Given the description of an element on the screen output the (x, y) to click on. 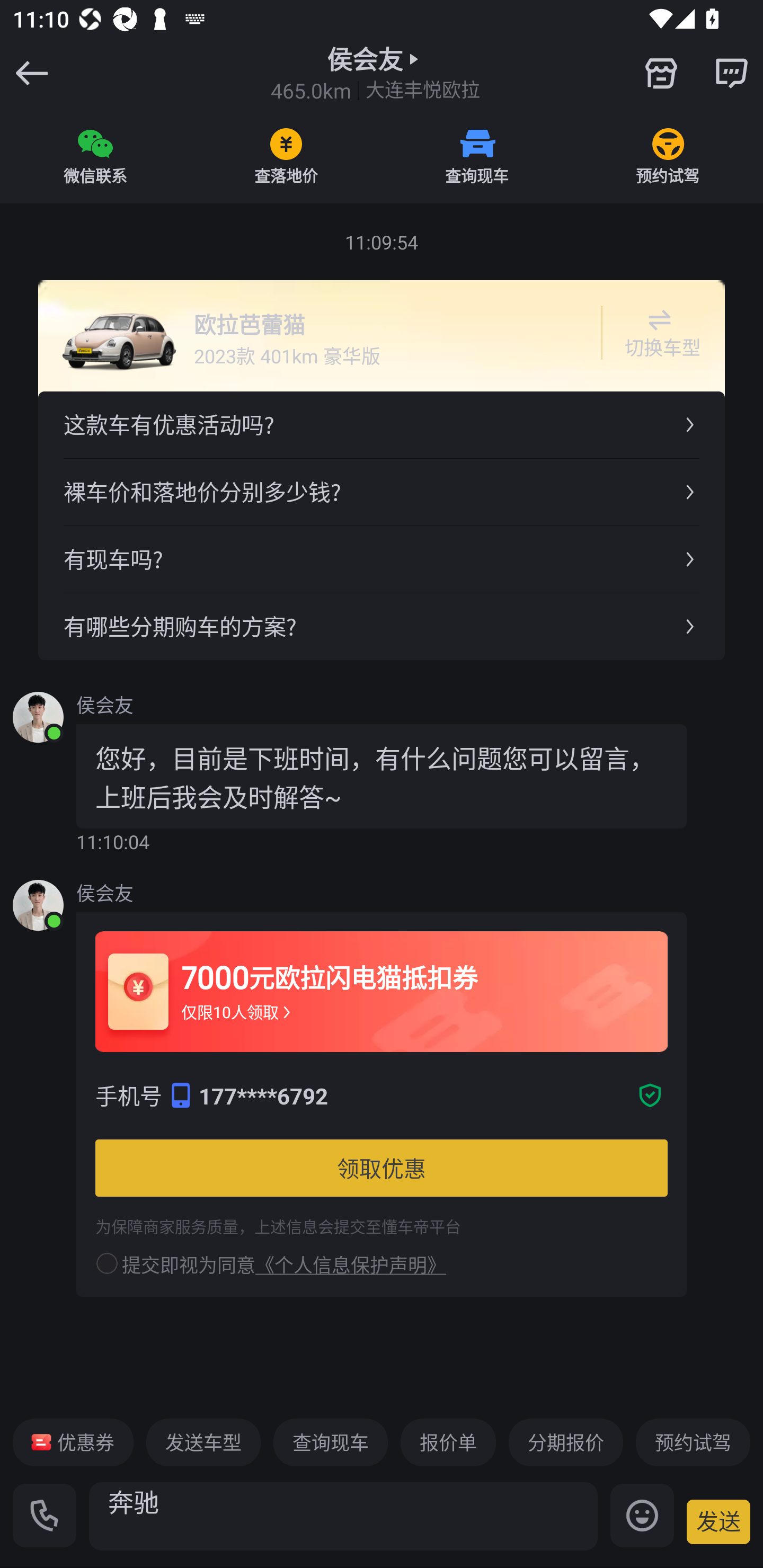
侯会友 465.0km 大连丰悦欧拉 (374, 73)
 (730, 72)
 (661, 73)
微信联系 (95, 155)
查落地价 (285, 155)
查询现车 (476, 155)
预约试驾 (667, 155)
切换车型 (659, 332)
这款车有优惠活动吗? (381, 424)
裸车价和落地价分别多少钱? (381, 492)
有现车吗? (381, 558)
有哪些分期购车的方案? (381, 626)
您好，目前是下班时间，有什么问题您可以留言，上班后我会及时解答~ (381, 775)
仅限10人领取 (237, 1011)
177****6792 (413, 1095)
领取优惠 (381, 1167)
优惠券 (72, 1442)
发送车型 (203, 1442)
查询现车 (330, 1442)
报价单 (447, 1442)
分期报价 (565, 1442)
预约试驾 (692, 1442)
奔驰
 (343, 1515)
发送 (718, 1521)
